Given the description of an element on the screen output the (x, y) to click on. 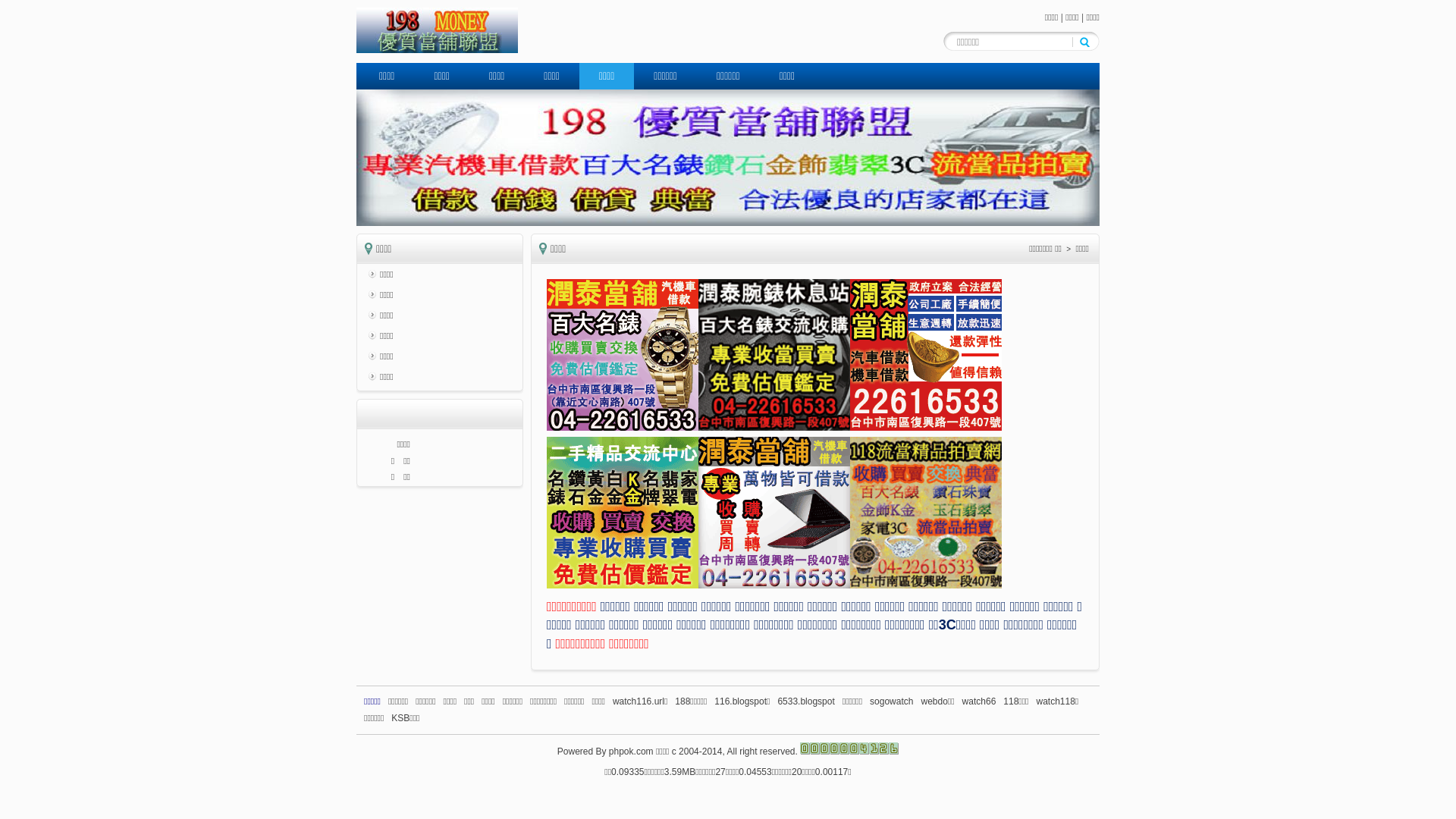
6533.blogspot Element type: text (805, 701)
auto_1190.gif Element type: hover (774, 354)
watch66 Element type: text (979, 701)
auto_1206.gif Element type: hover (622, 354)
sogowatch Element type: text (891, 701)
auto_1158.gif Element type: hover (925, 354)
auto_1203.gif Element type: hover (925, 512)
